Given the description of an element on the screen output the (x, y) to click on. 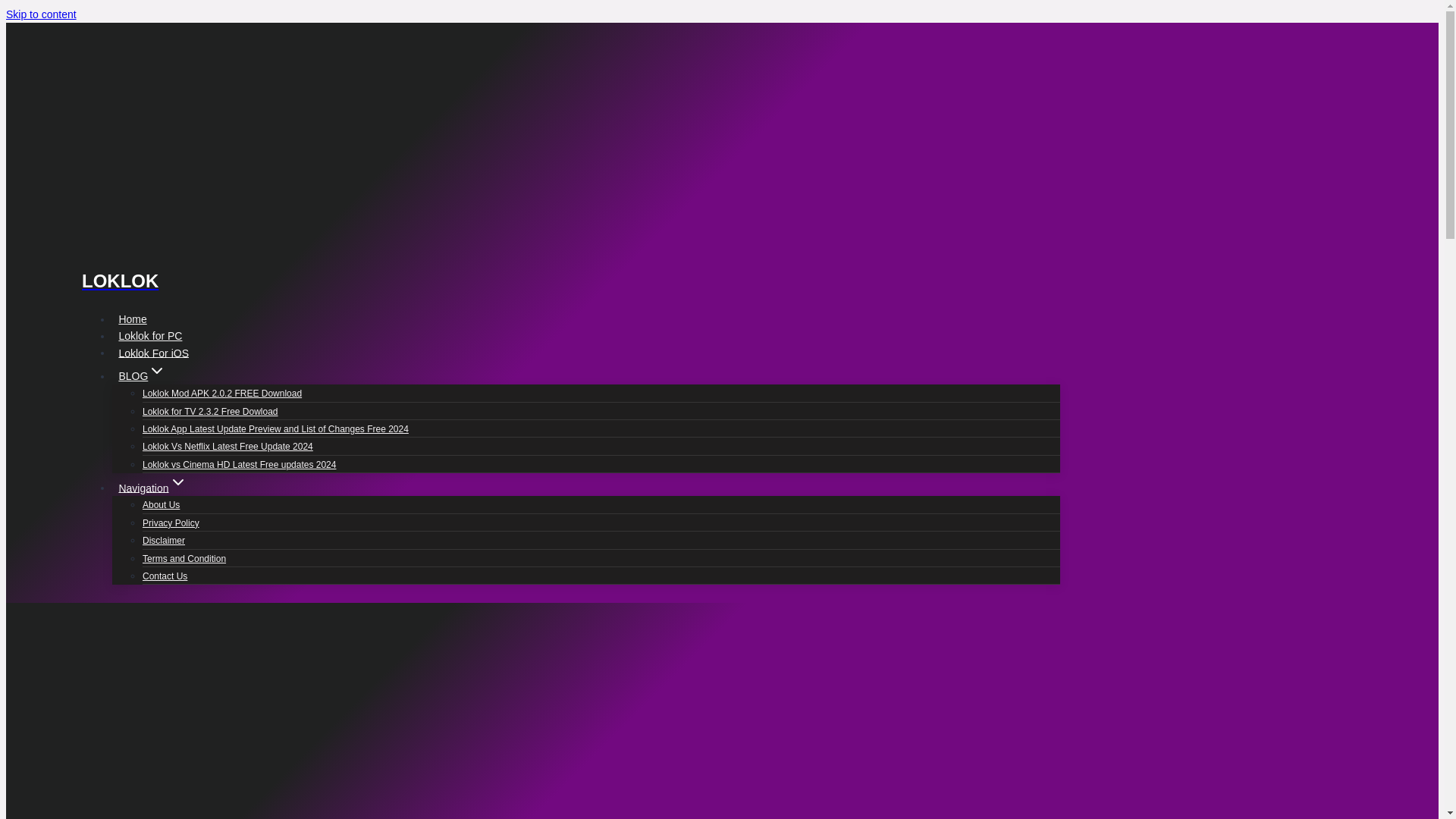
Disclaimer (163, 540)
Privacy Policy (170, 522)
Expand (177, 482)
BLOGExpand (142, 375)
Skip to content (41, 14)
NavigationExpand (152, 487)
Loklok Vs Netflix Latest Free Update 2024 (227, 446)
Expand (156, 370)
Terms and Condition (183, 558)
Loklok For iOS (153, 352)
Loklok vs Cinema HD Latest Free updates 2024 (239, 464)
Skip to content (41, 14)
Loklok for PC (150, 335)
LOKLOK (570, 264)
